Given the description of an element on the screen output the (x, y) to click on. 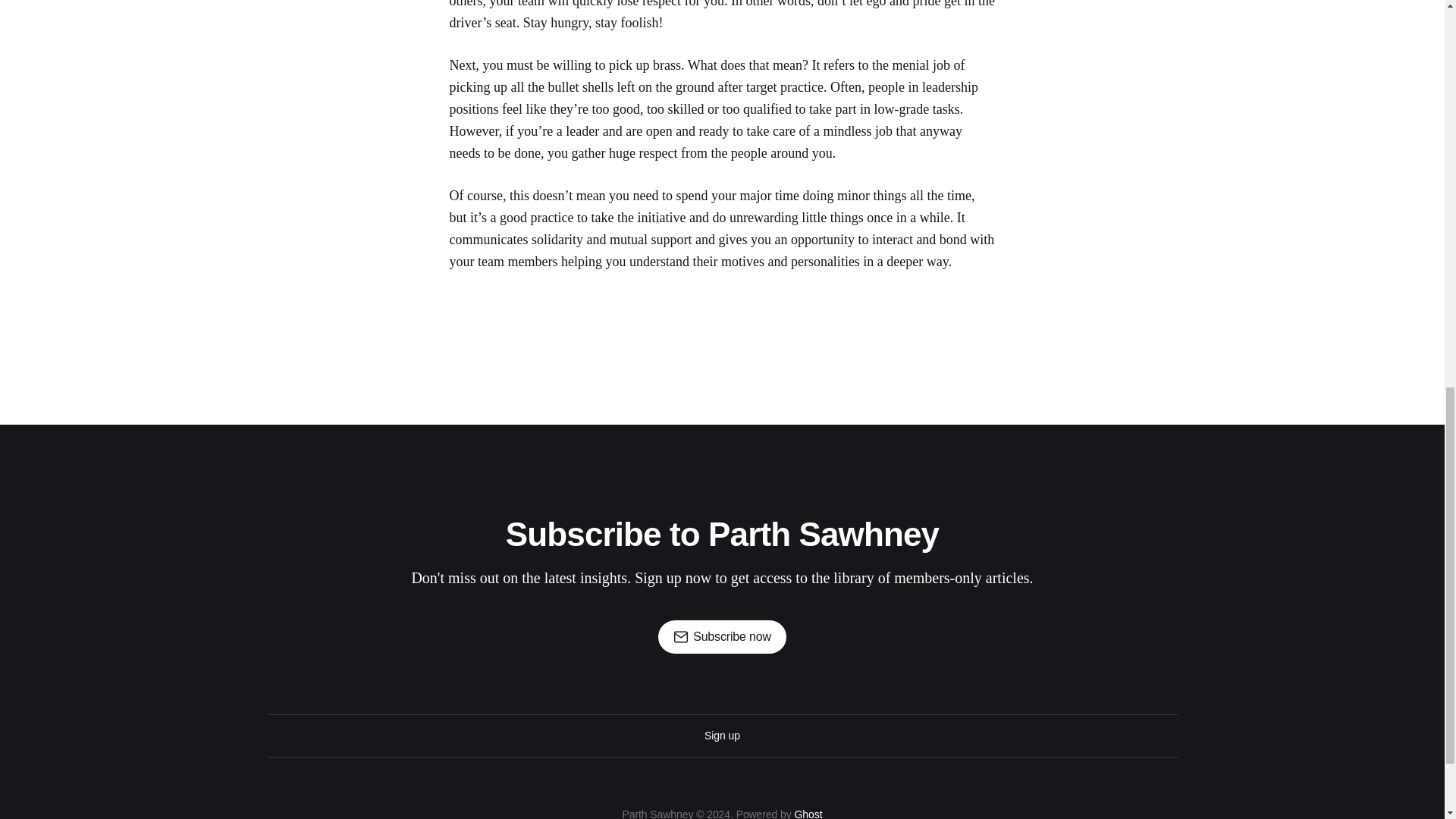
Subscribe now (722, 636)
Ghost (808, 813)
Sign up (721, 735)
